Given the description of an element on the screen output the (x, y) to click on. 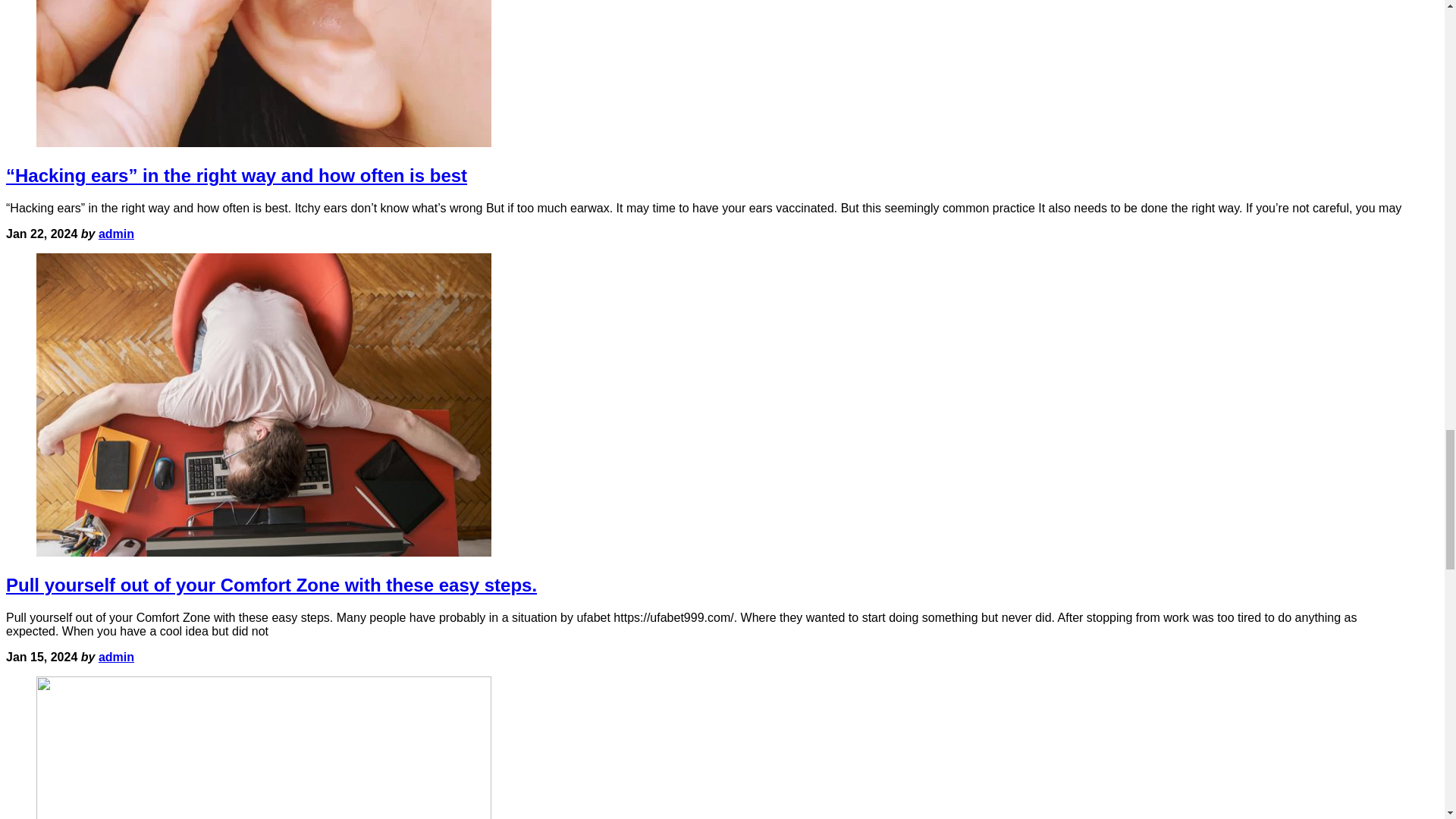
admin (116, 656)
admin (116, 233)
